Given the description of an element on the screen output the (x, y) to click on. 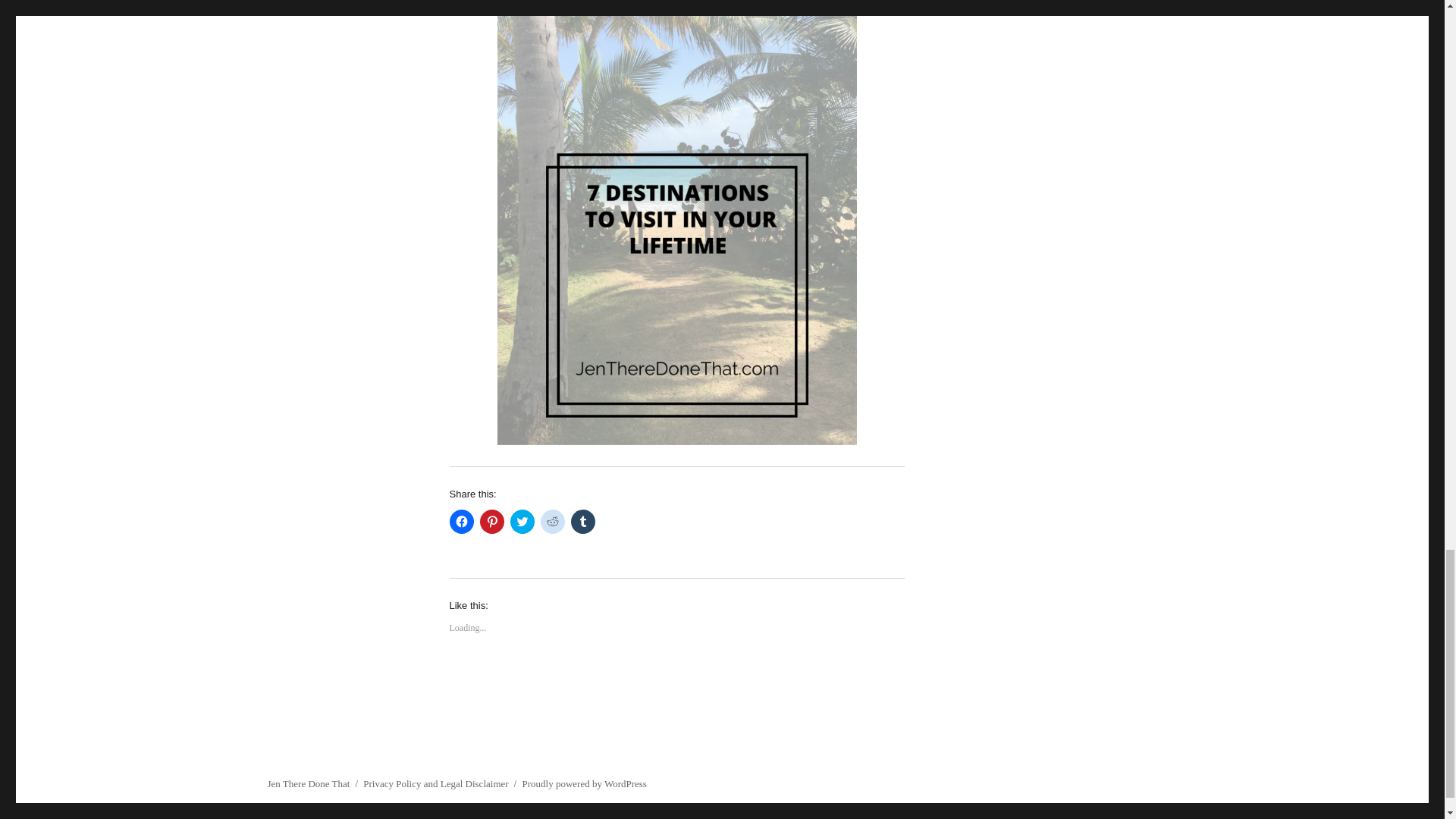
Click to share on Pinterest (491, 521)
Click to share on Facebook (460, 521)
Click to share on Reddit (552, 521)
Click to share on Tumblr (582, 521)
Click to share on Twitter (521, 521)
